Given the description of an element on the screen output the (x, y) to click on. 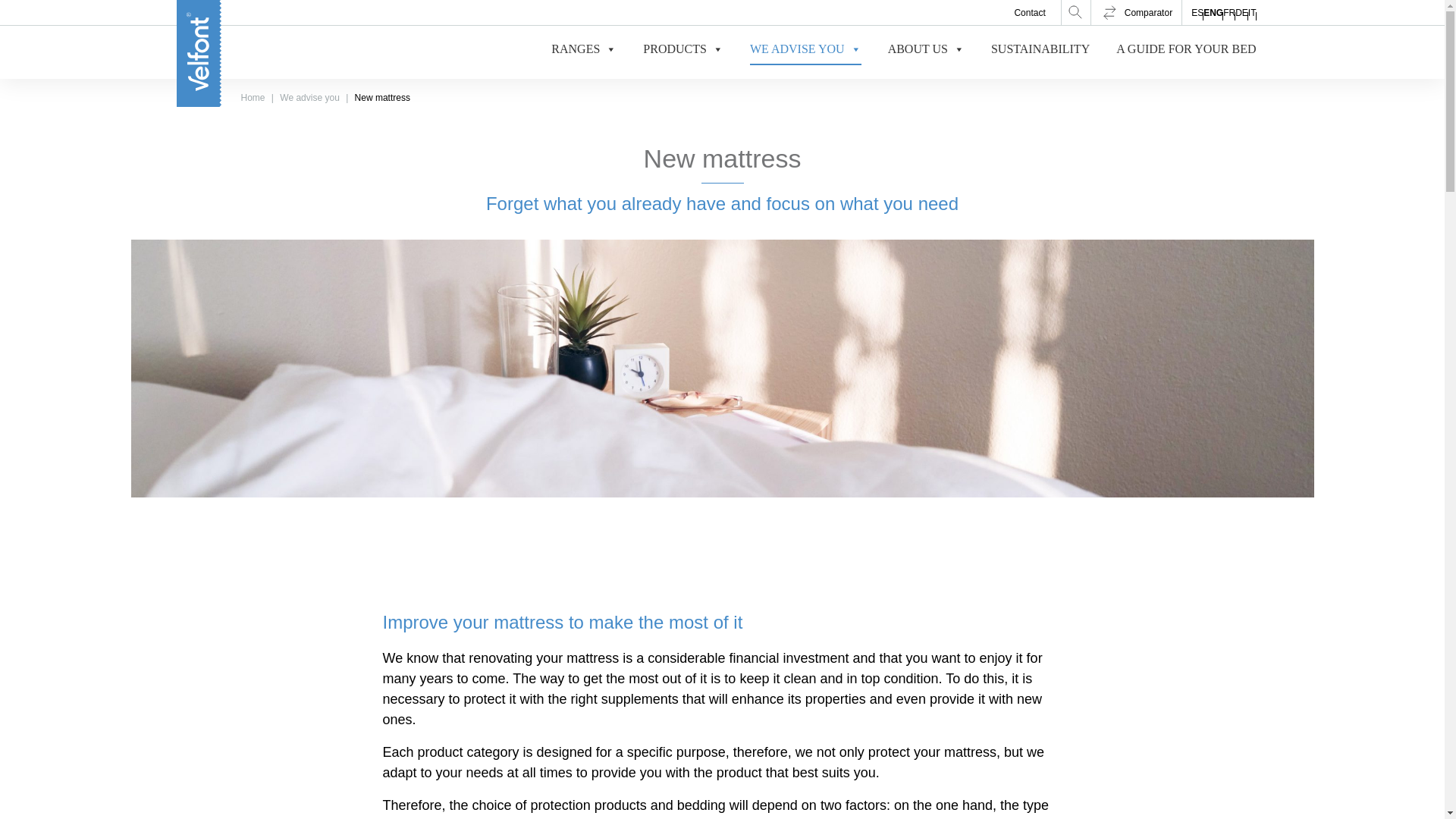
ES (1197, 12)
DE (1240, 12)
Comparator (1136, 12)
Comparator (1136, 12)
ENG (1213, 12)
Contact (1029, 12)
FR (1228, 12)
PRODUCTS (683, 51)
RANGES (583, 51)
